Given the description of an element on the screen output the (x, y) to click on. 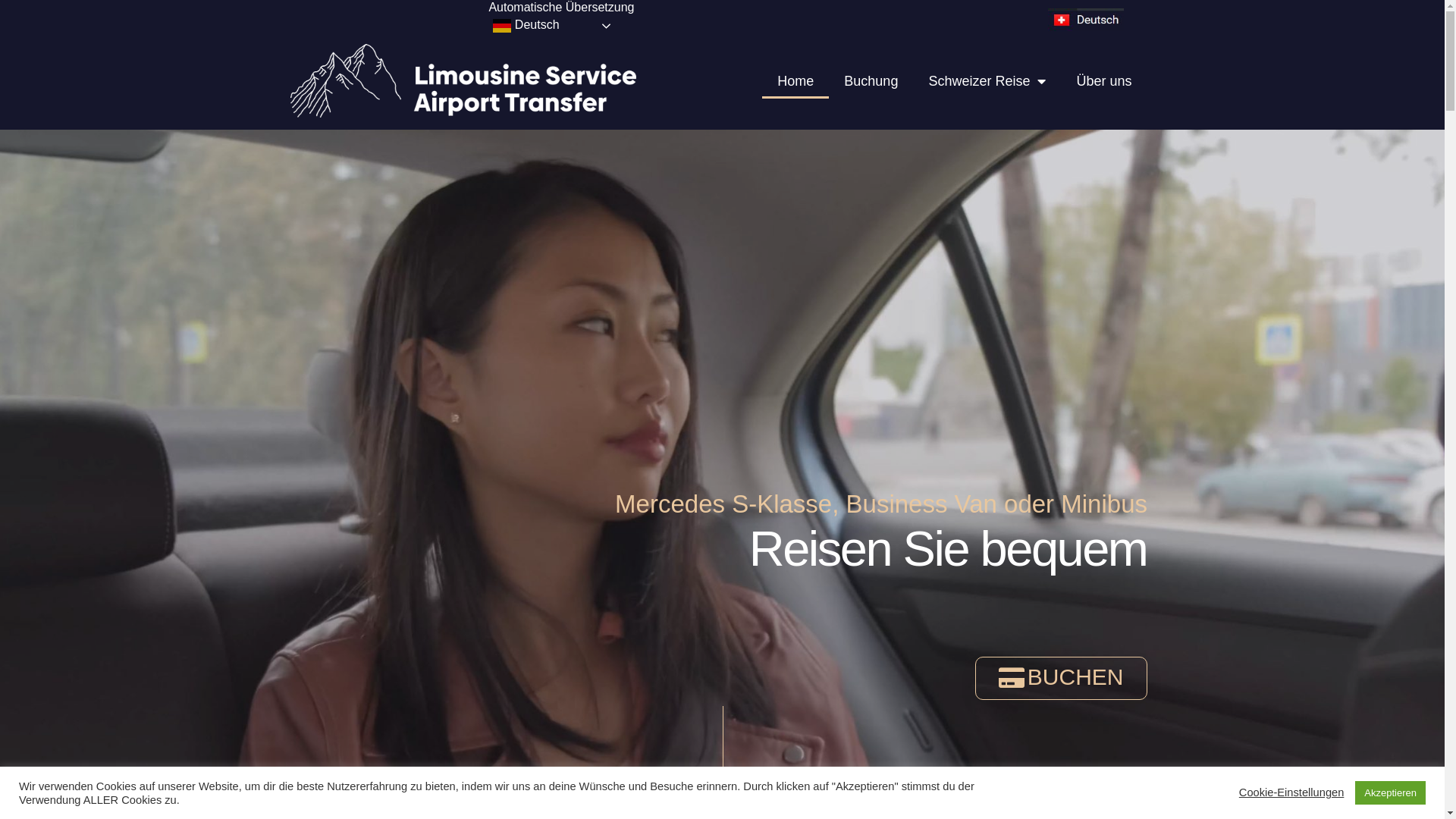
Schweizer Reise Element type: text (986, 80)
Akzeptieren Element type: text (1390, 792)
Buchung Element type: text (870, 80)
Home Element type: text (795, 80)
Cookie-Einstellungen Element type: text (1291, 792)
BUCHEN Element type: text (1061, 677)
Flughafentransfer (En)_600 Element type: hover (462, 80)
Deutsch Element type: text (553, 25)
